Given the description of an element on the screen output the (x, y) to click on. 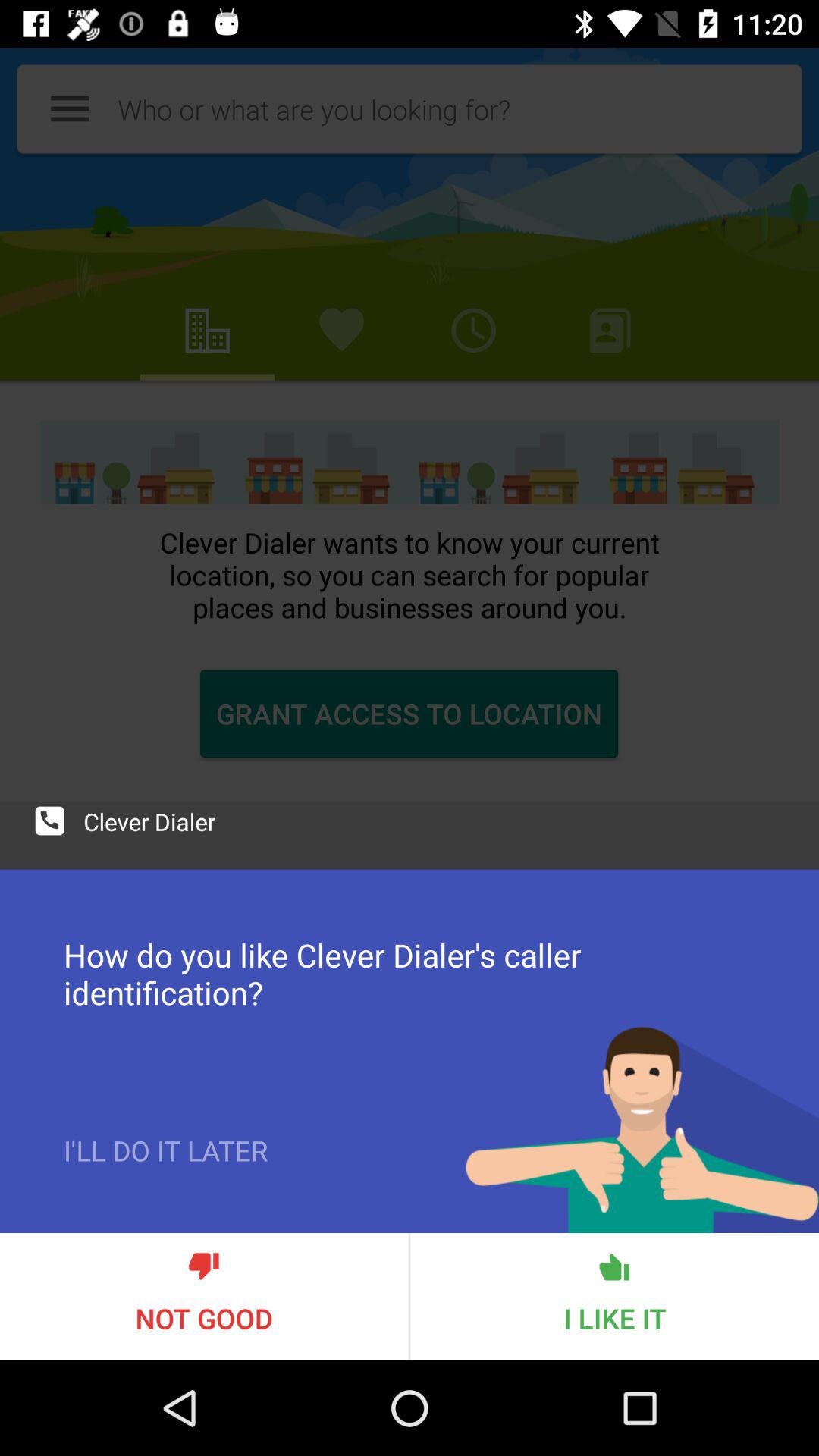
swipe to i ll do (165, 1182)
